Given the description of an element on the screen output the (x, y) to click on. 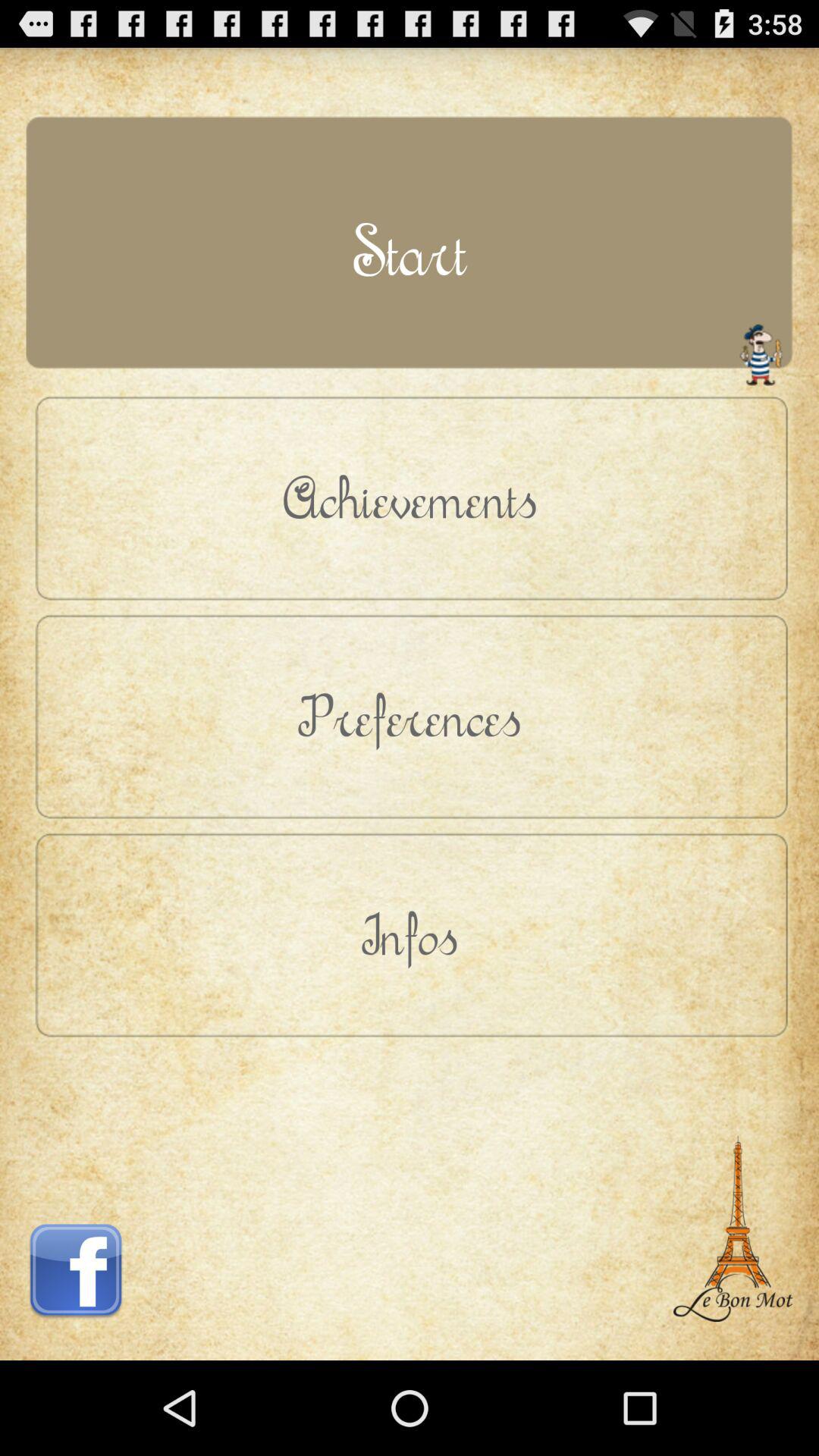
turn on button below infos button (75, 1195)
